Given the description of an element on the screen output the (x, y) to click on. 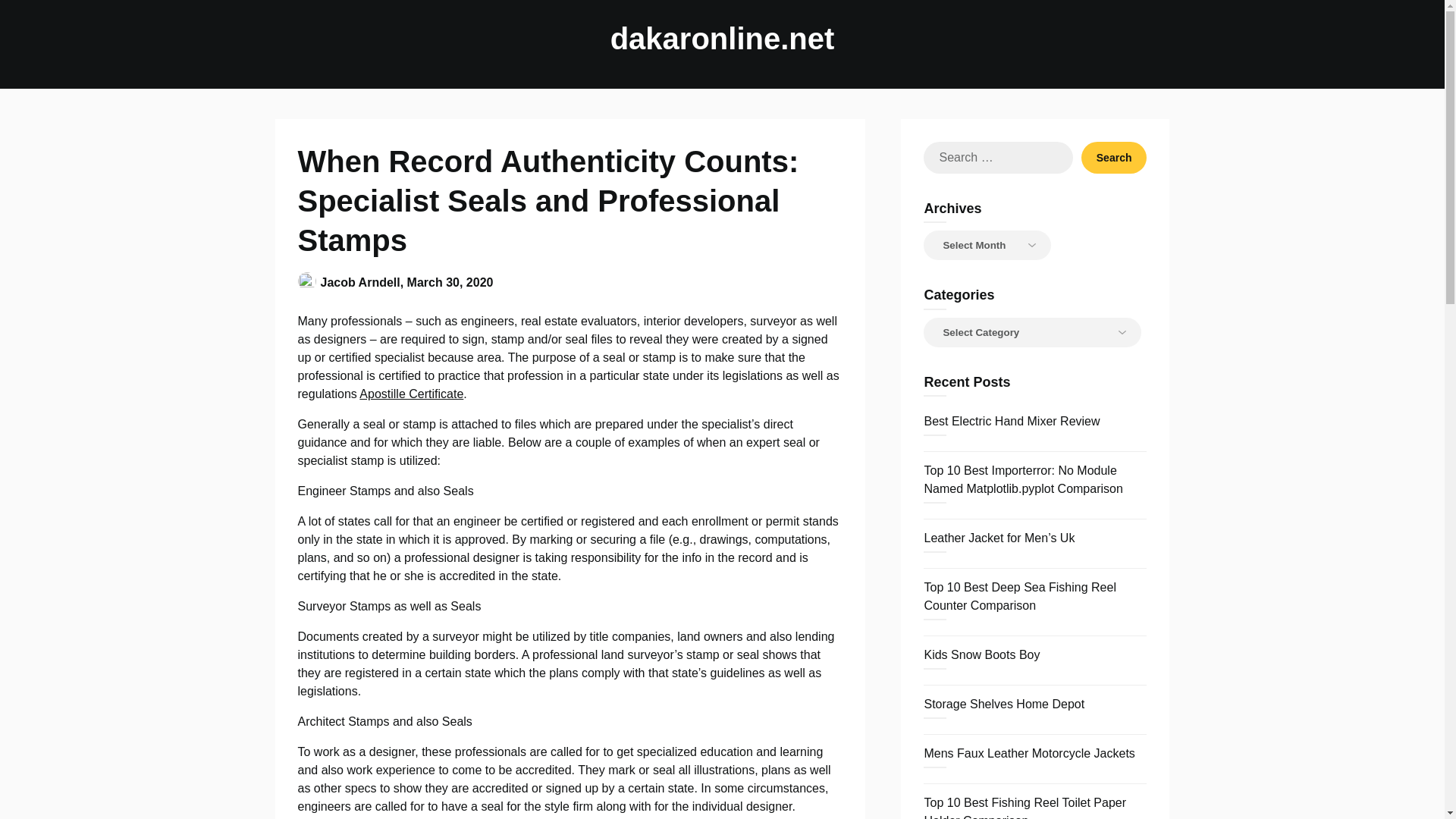
Top 10 Best Deep Sea Fishing Reel Counter Comparison (1019, 595)
Top 10 Best Fishing Reel Toilet Paper Holder Comparison (1024, 807)
March 30, 2020 (450, 282)
Kids Snow Boots Boy (981, 654)
Search (1114, 157)
Mens Faux Leather Motorcycle Jackets (1028, 753)
Search (1114, 157)
Apostille Certificate (411, 393)
dakaronline.net (722, 38)
